Given the description of an element on the screen output the (x, y) to click on. 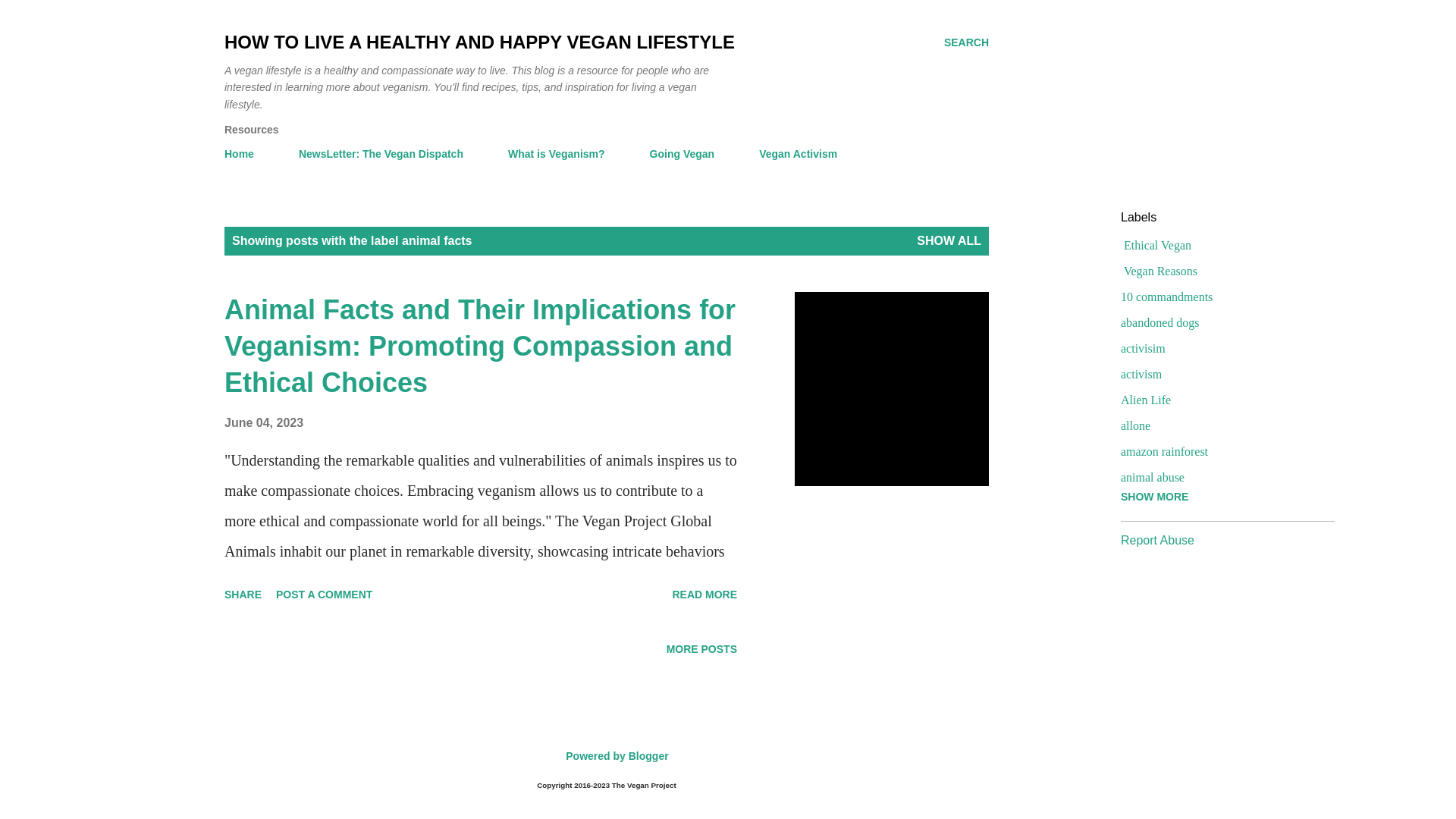
MORE POSTS (701, 648)
Home (243, 153)
READ MORE (703, 594)
activism (1221, 374)
Going Vegan (681, 153)
NewsLetter: The Vegan Dispatch (380, 153)
10 commandments (1221, 296)
POST A COMMENT (323, 594)
June 04, 2023 (263, 422)
HOW TO LIVE A HEALTHY AND HAPPY VEGAN LIFESTYLE (479, 41)
amazon rainforest (1221, 451)
SHOW ALL (949, 241)
permanent link (263, 422)
